Given the description of an element on the screen output the (x, y) to click on. 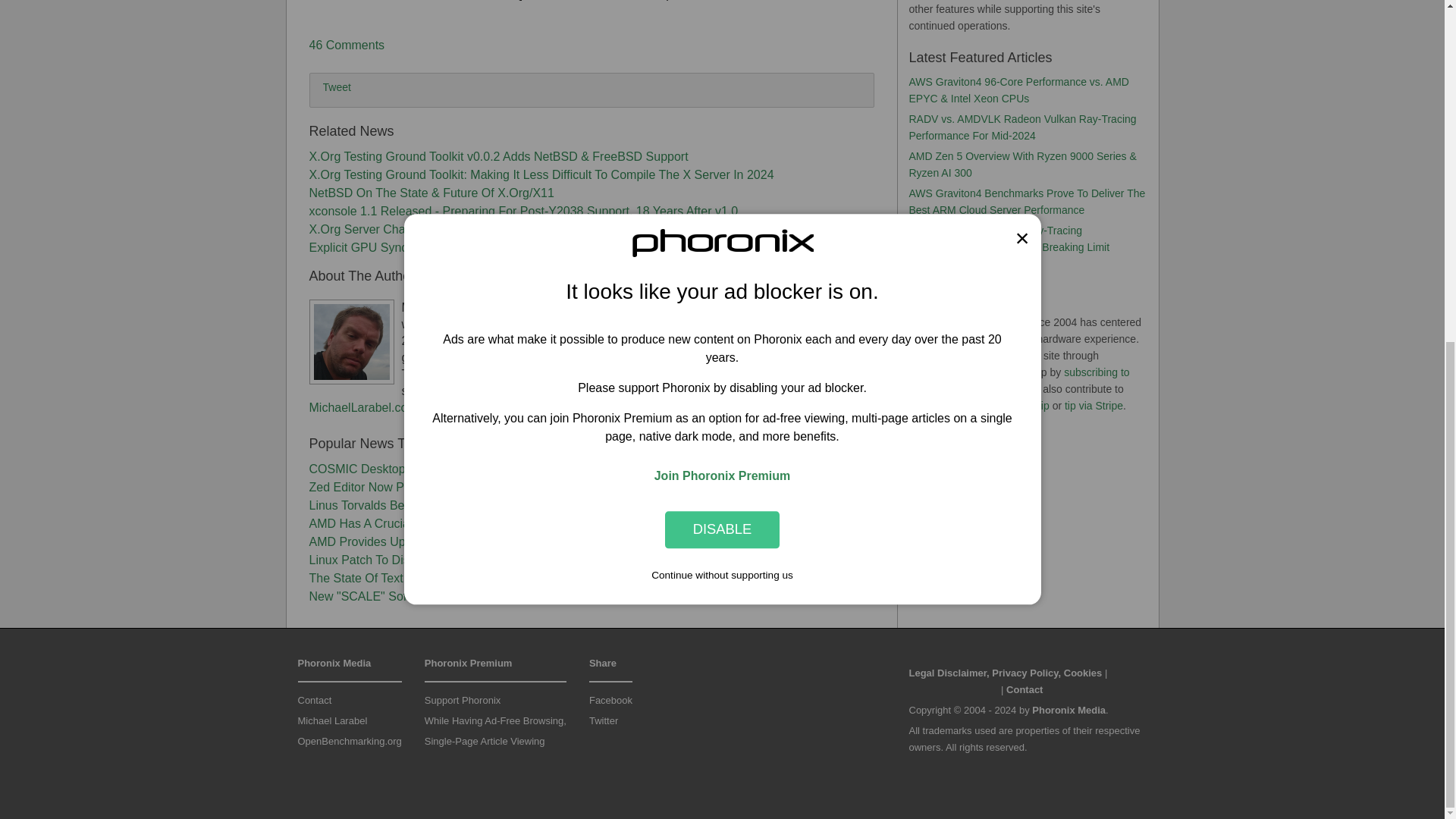
Tweet (336, 87)
46 Comments (346, 44)
